Given the description of an element on the screen output the (x, y) to click on. 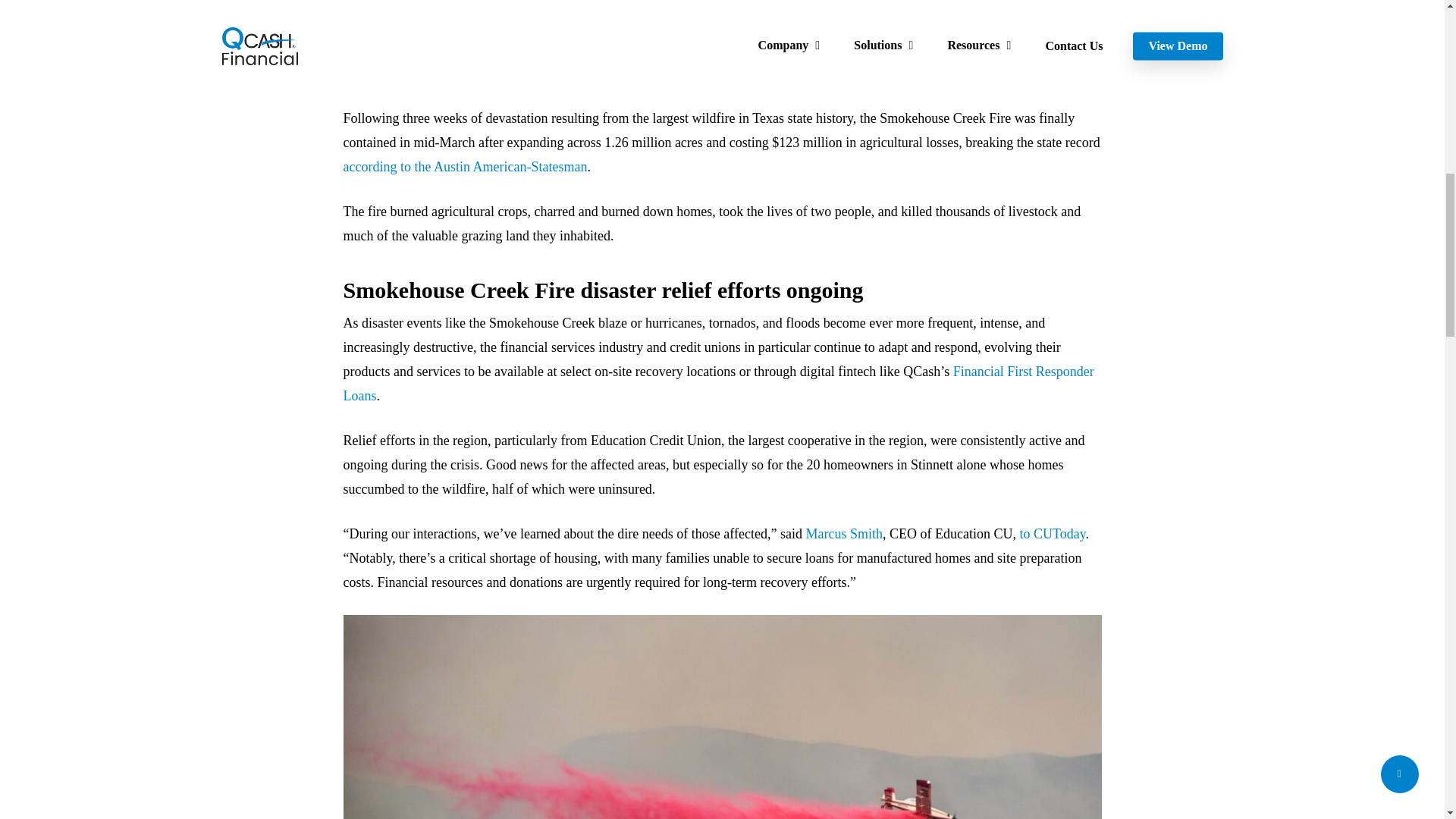
Home (237, 73)
according to the Austin American-Statesman (464, 166)
Marcus Smith (843, 533)
Financial First Responder Loans (717, 383)
to CUToday (1051, 533)
